Given the description of an element on the screen output the (x, y) to click on. 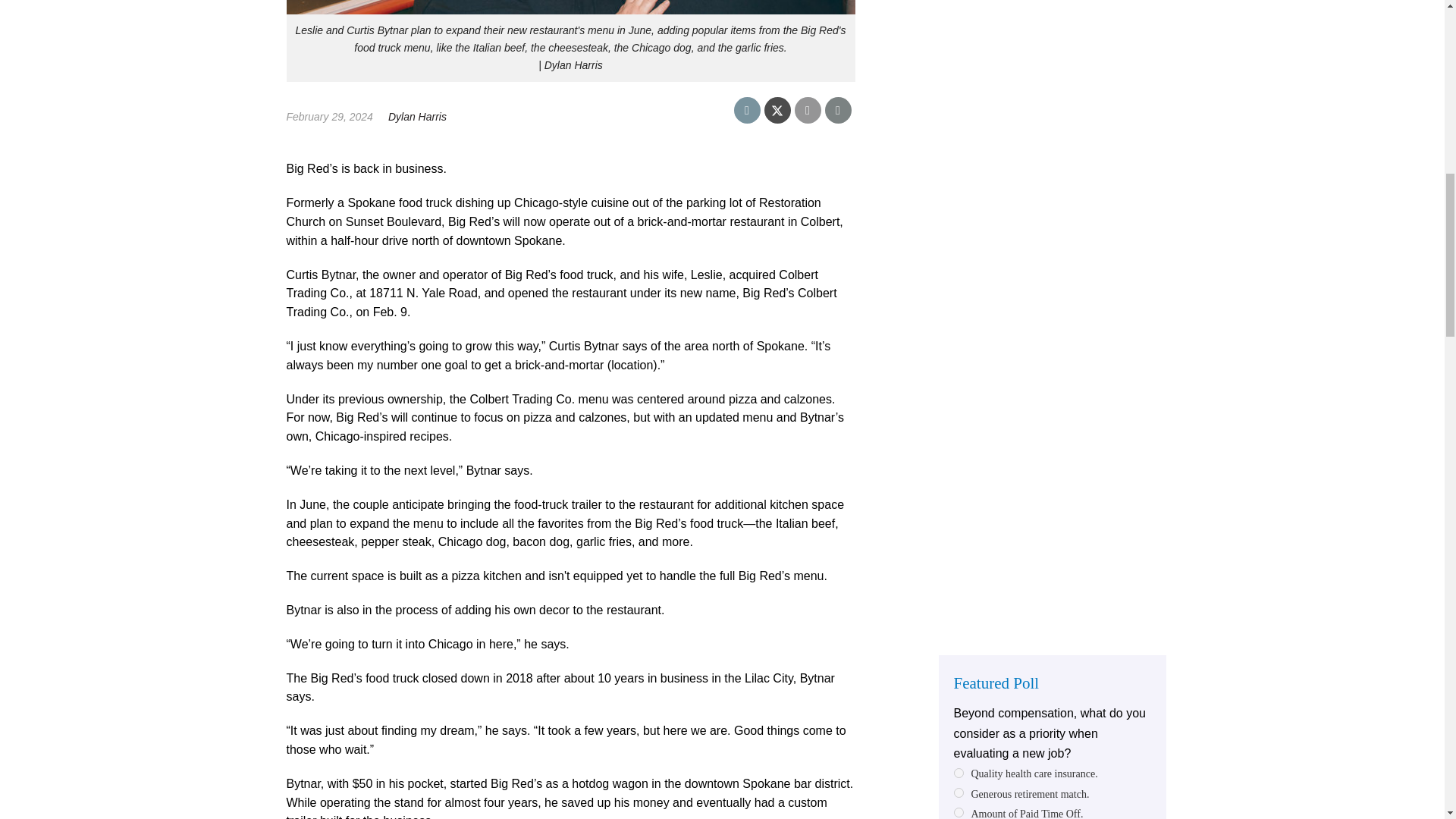
46 (958, 792)
44 (958, 773)
47 (958, 812)
3rd party ad content (1052, 77)
